Given the description of an element on the screen output the (x, y) to click on. 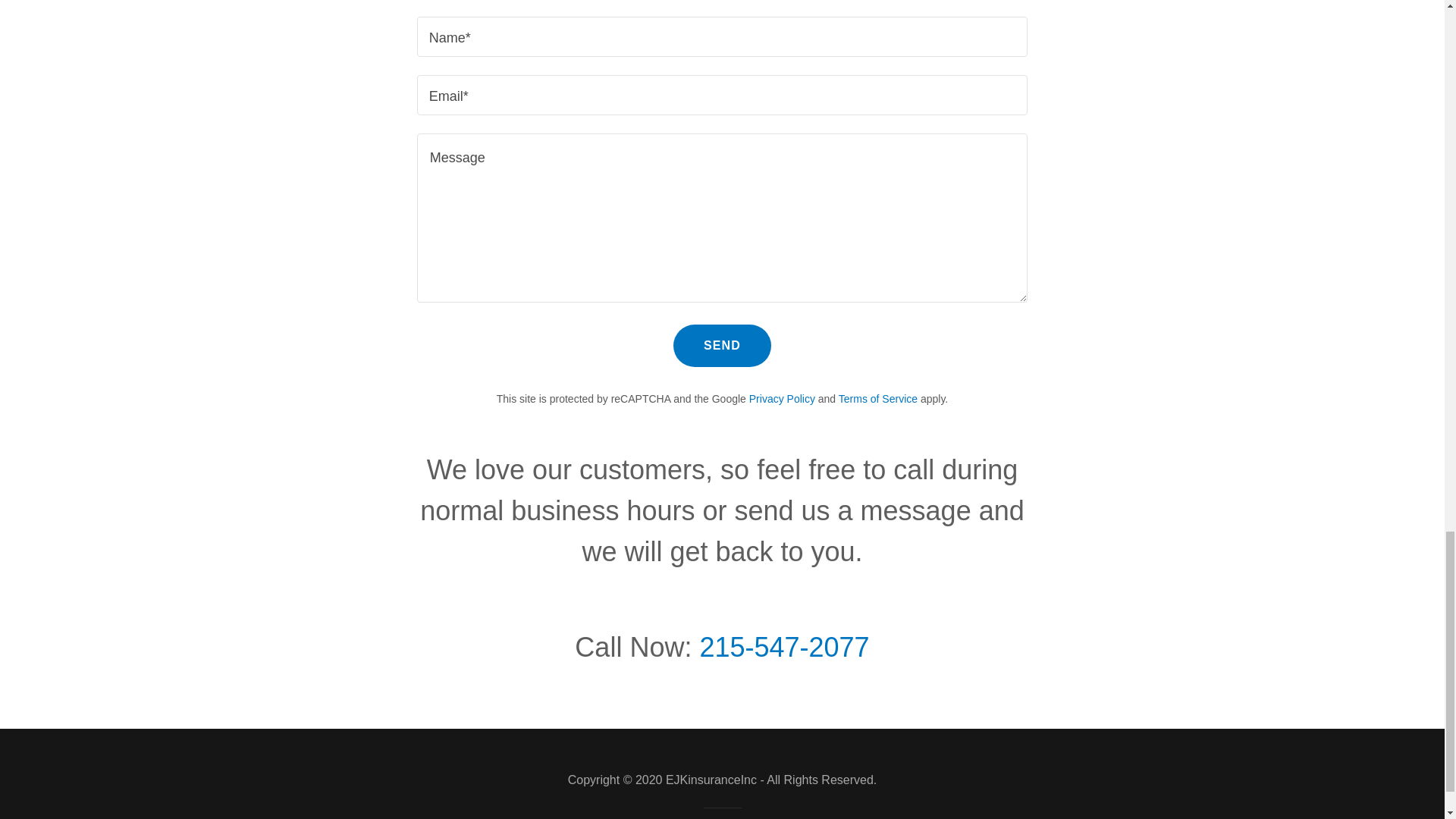
Privacy Policy (782, 398)
SEND (721, 345)
215-547-2077 (783, 646)
Terms of Service (877, 398)
